Given the description of an element on the screen output the (x, y) to click on. 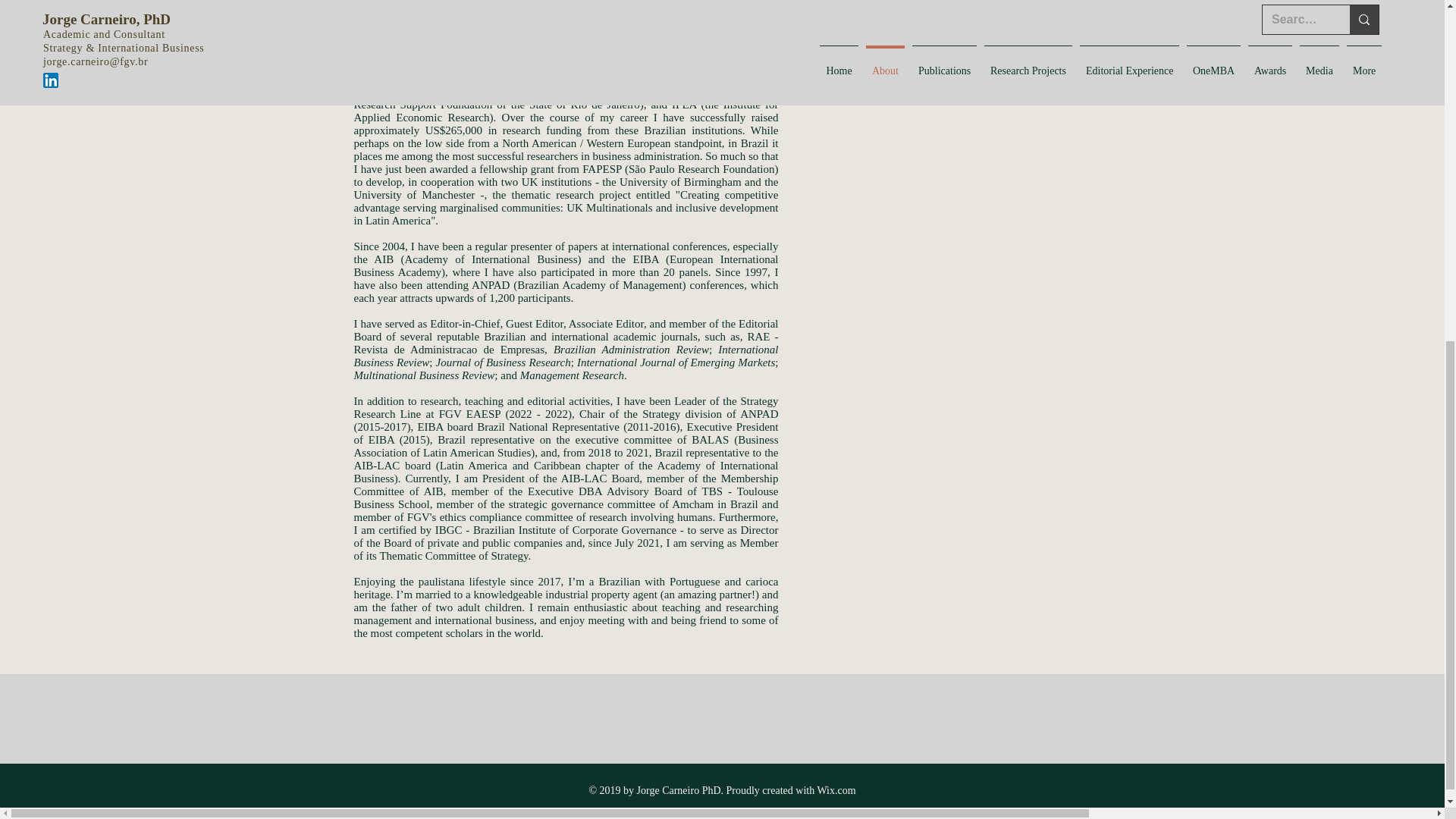
Wix.com (836, 790)
